Given the description of an element on the screen output the (x, y) to click on. 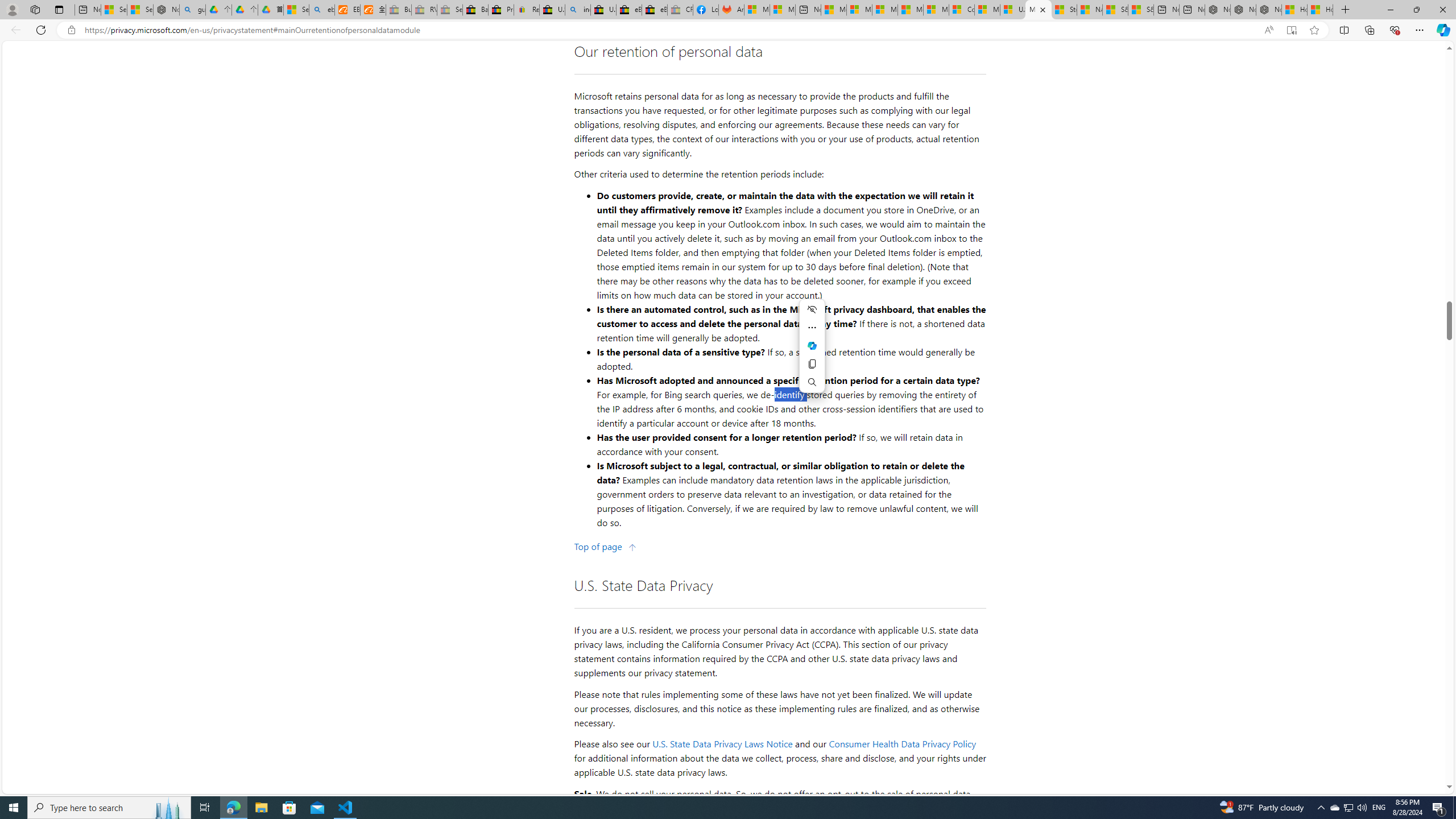
Microsoft account | Home (884, 9)
Enter Immersive Reader (F9) (1291, 29)
eBay Inc. Reports Third Quarter 2023 Results (654, 9)
Ask Copilot (811, 345)
